Given the description of an element on the screen output the (x, y) to click on. 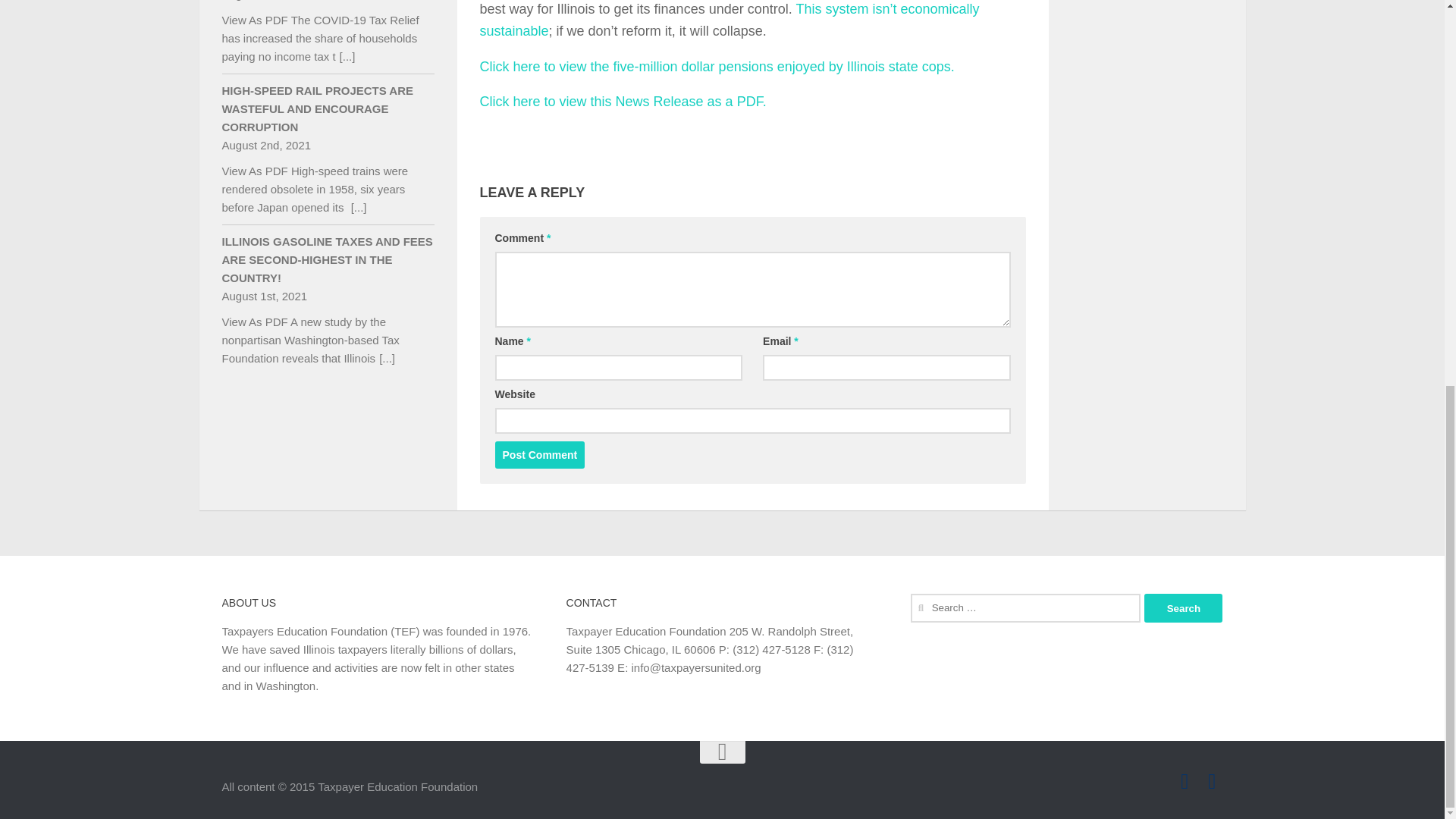
Post Comment (540, 454)
Search (1183, 607)
Search (1183, 607)
Post Comment (540, 454)
Click here to view this News Release as a PDF. (622, 101)
